Given the description of an element on the screen output the (x, y) to click on. 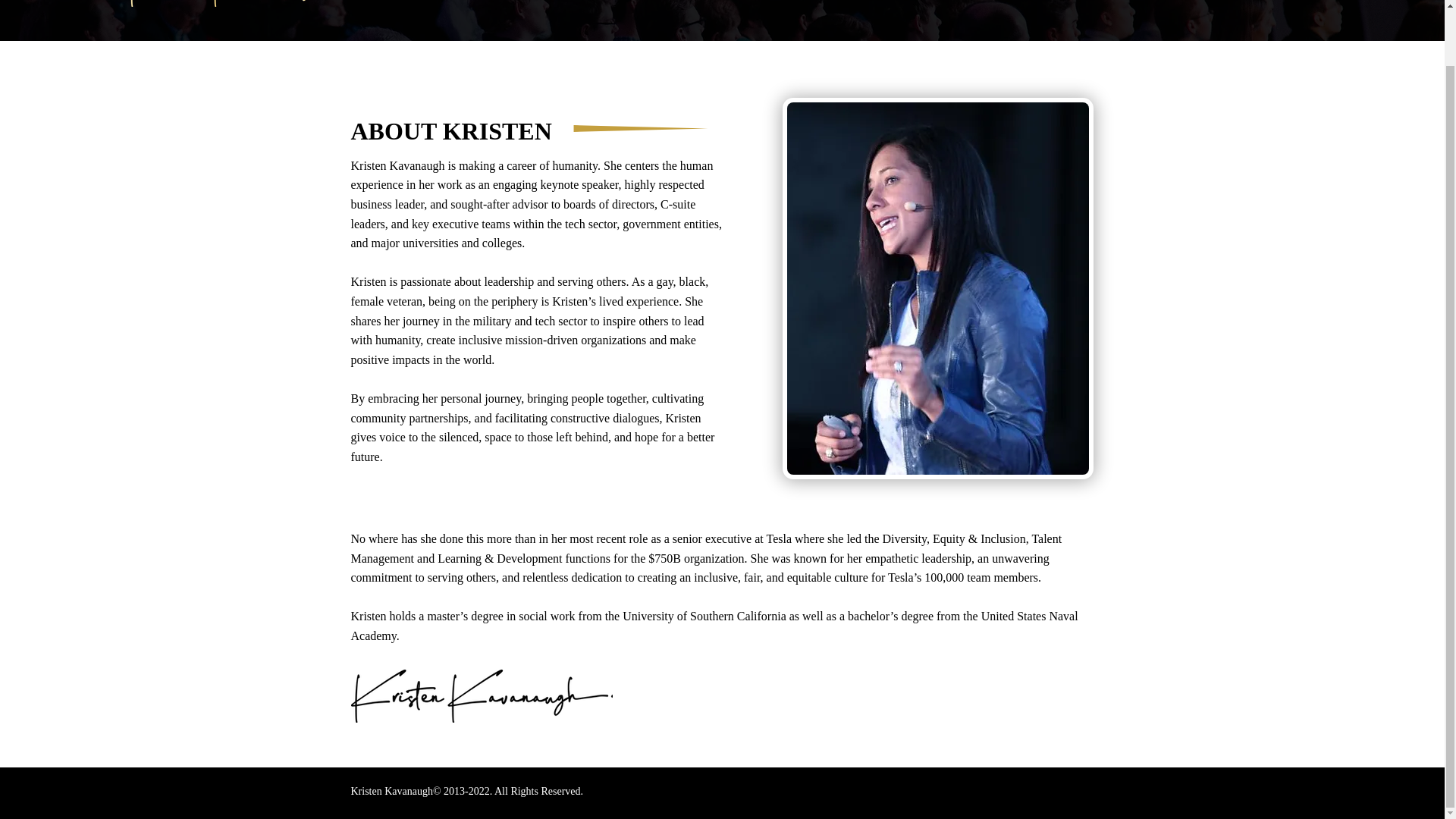
Facebook Like (1064, 792)
Twitter Follow (936, 792)
